Given the description of an element on the screen output the (x, y) to click on. 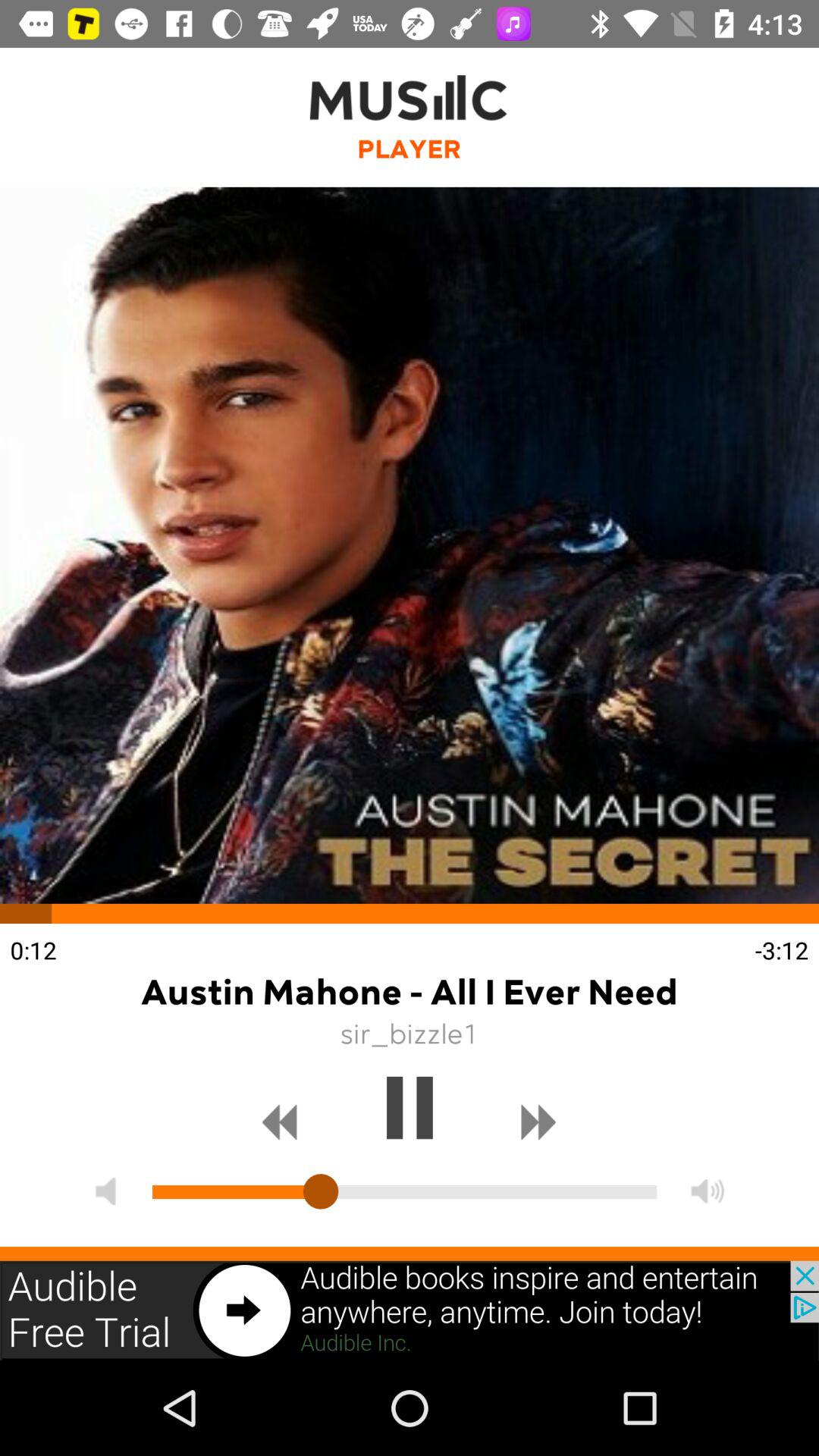
skip button (538, 1122)
